Given the description of an element on the screen output the (x, y) to click on. 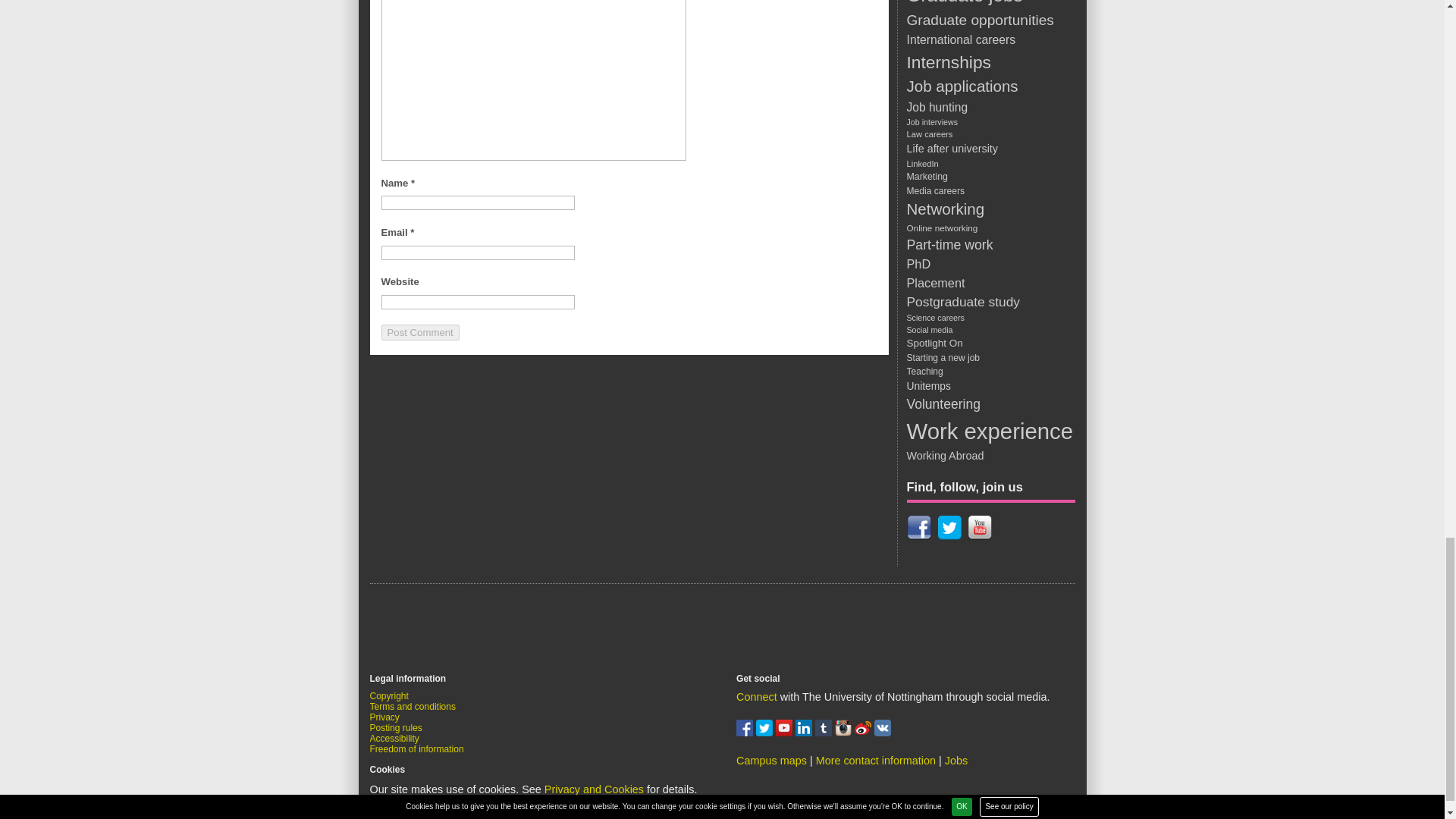
Get Social with The University of Nottingham (756, 696)
Watch us on You Tube (785, 732)
Posting rules (395, 727)
Privacy (383, 716)
Copyright  (389, 696)
Accessibility (394, 738)
Find us on facebook (745, 732)
Freedom of information (416, 748)
Terms and conditions (412, 706)
Follow us on twitter (765, 732)
Post Comment (419, 332)
